Given the description of an element on the screen output the (x, y) to click on. 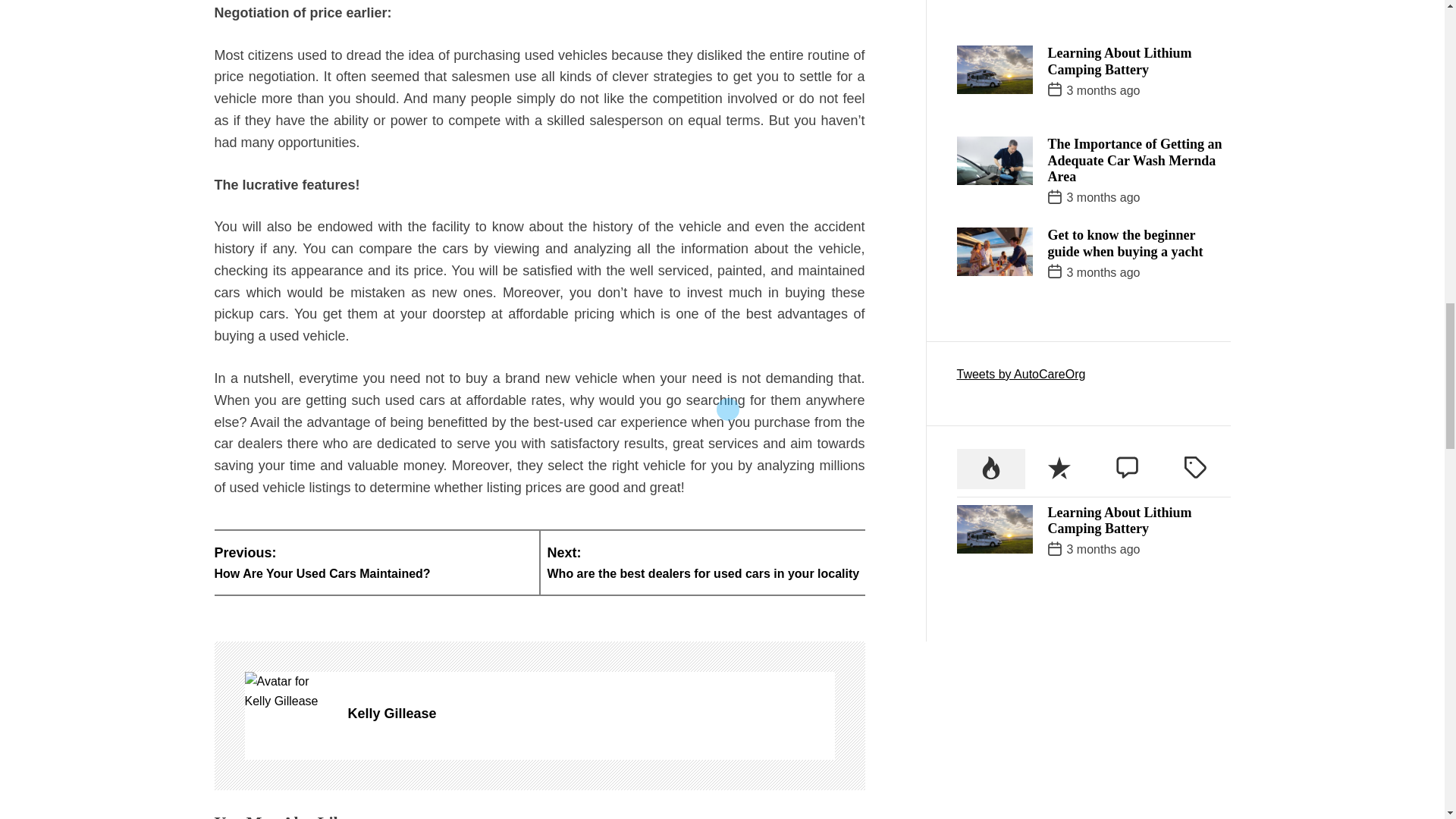
Kelly Gillease (372, 562)
Kelly Gillease (590, 713)
Kelly Gillease (590, 713)
